Given the description of an element on the screen output the (x, y) to click on. 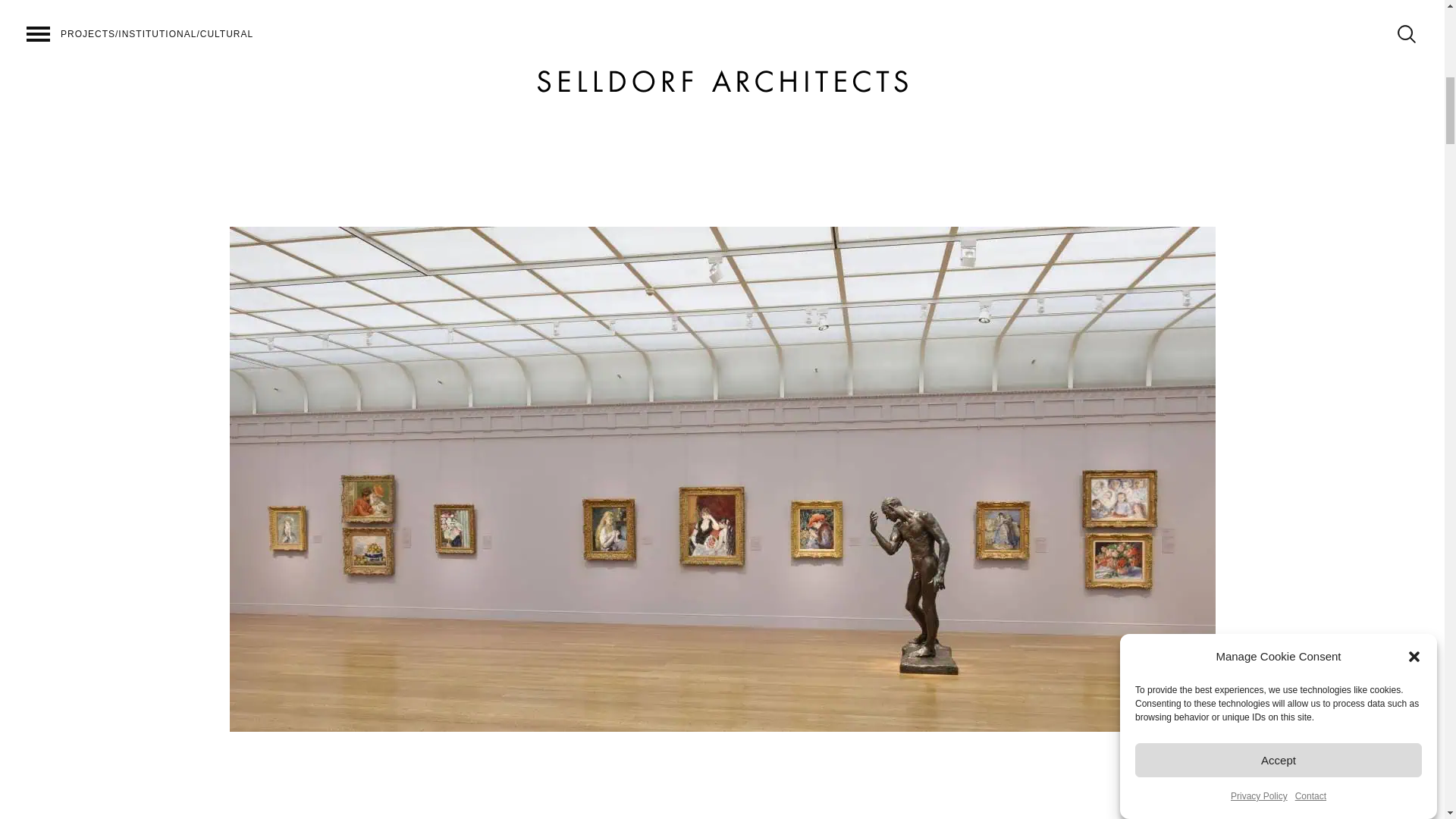
Privacy Policy (1258, 128)
Accept (1278, 229)
Contact (1310, 79)
